Given the description of an element on the screen output the (x, y) to click on. 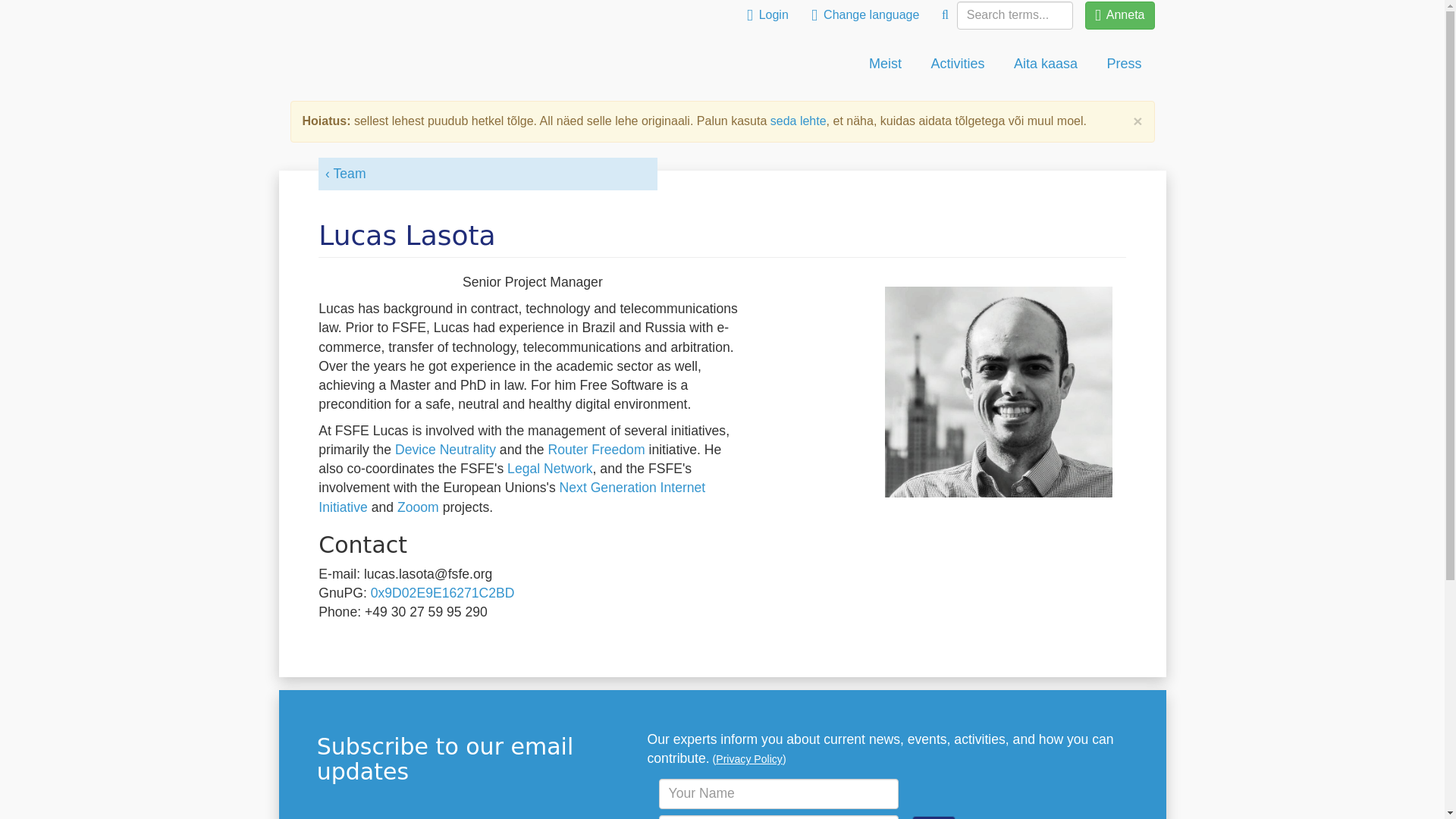
Activities (957, 63)
Telli (933, 817)
Team (344, 173)
Press (1123, 63)
Anneta (1119, 15)
Router Freedom (596, 449)
0x9D02E9E16271C2BD (443, 592)
Zooom (418, 507)
Device Neutrality (445, 449)
Change language (865, 15)
